Given the description of an element on the screen output the (x, y) to click on. 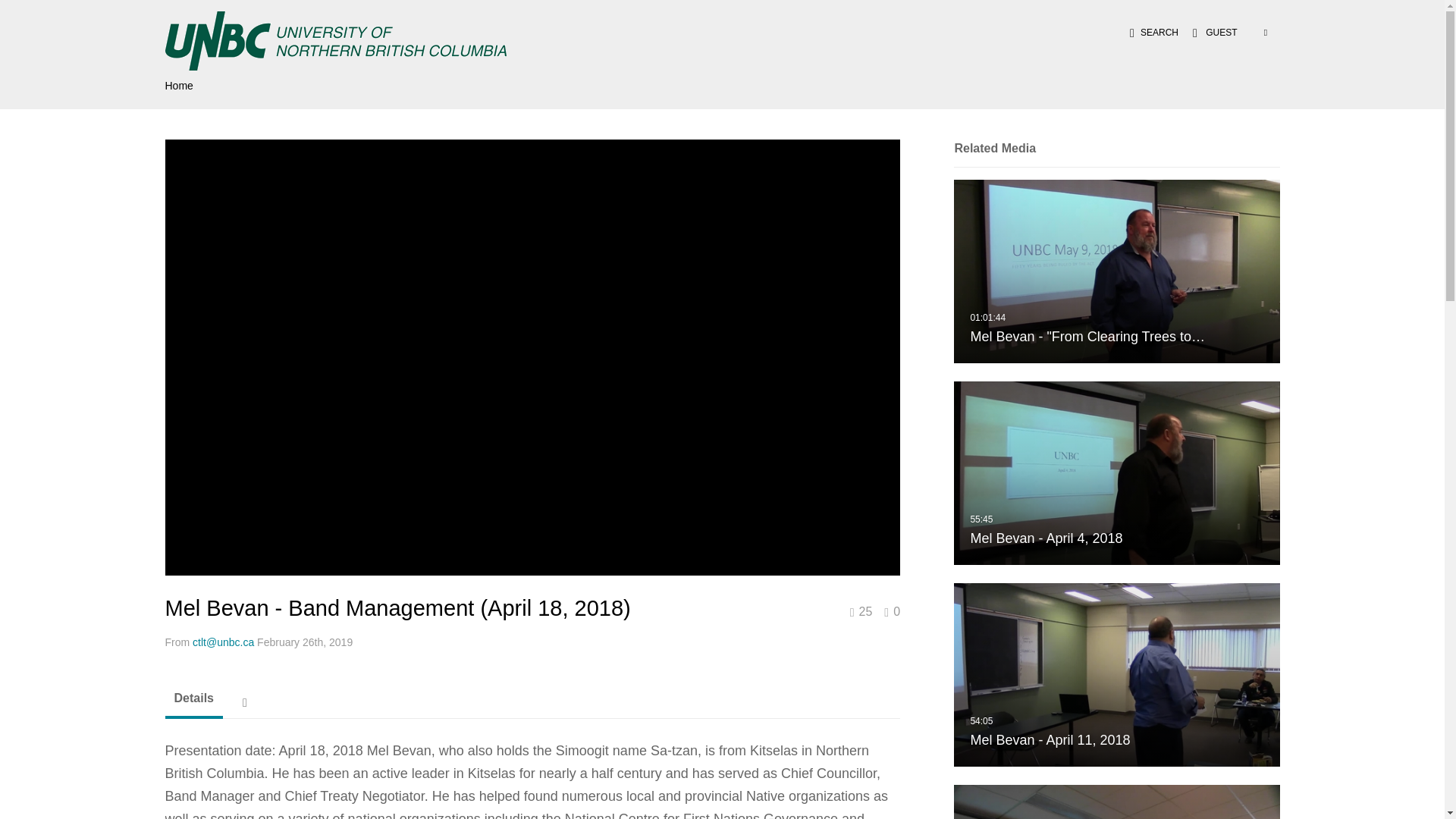
Mel Bevan - April 4, 2018 (1116, 471)
toggle contrast mode (1116, 473)
SEARCH (1116, 674)
Mel Bevan - April 11, 2018 (1260, 31)
Home (1149, 31)
GUEST (1116, 674)
